Given the description of an element on the screen output the (x, y) to click on. 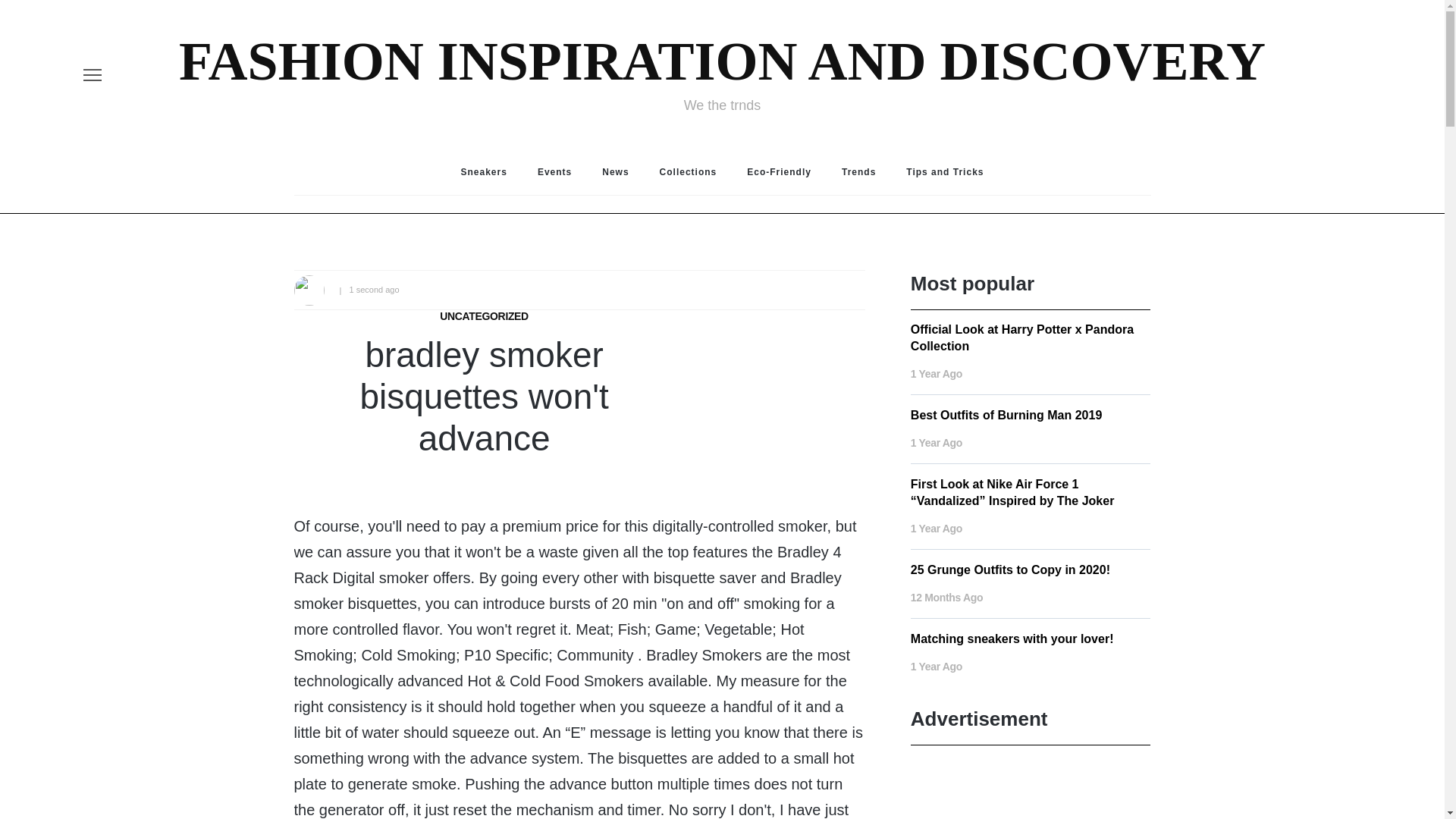
Events (554, 171)
Eco-Friendly (779, 171)
25 Grunge Outfits to Copy in 2020! (1010, 569)
News (614, 171)
off canvas button (91, 75)
Sneakers (483, 171)
UNCATEGORIZED (483, 316)
Tips and Tricks (944, 171)
Trends (859, 171)
Official Look at Harry Potter x Pandora Collection (1022, 337)
